Given the description of an element on the screen output the (x, y) to click on. 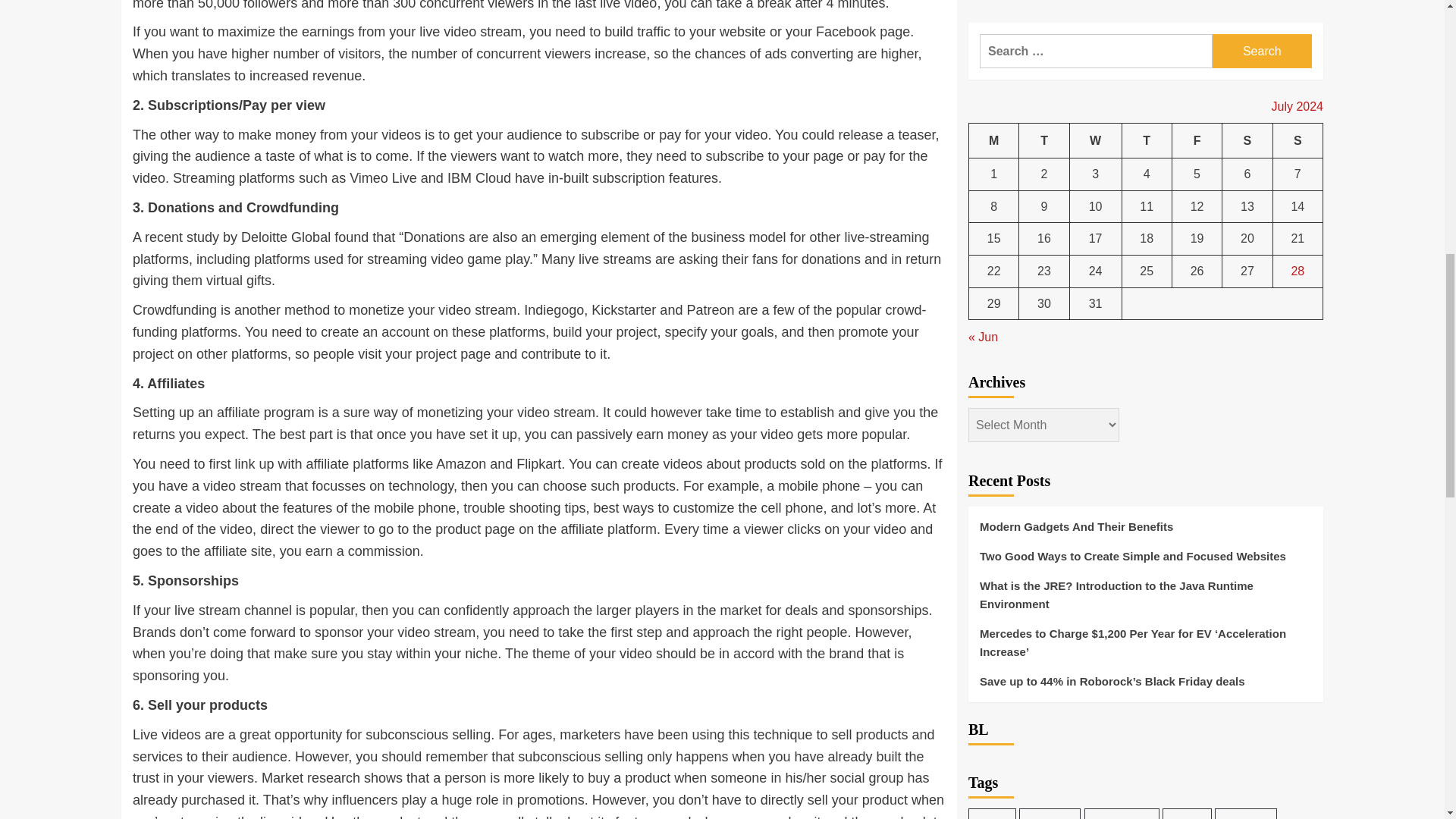
Seedbacklink (1010, 759)
